Given the description of an element on the screen output the (x, y) to click on. 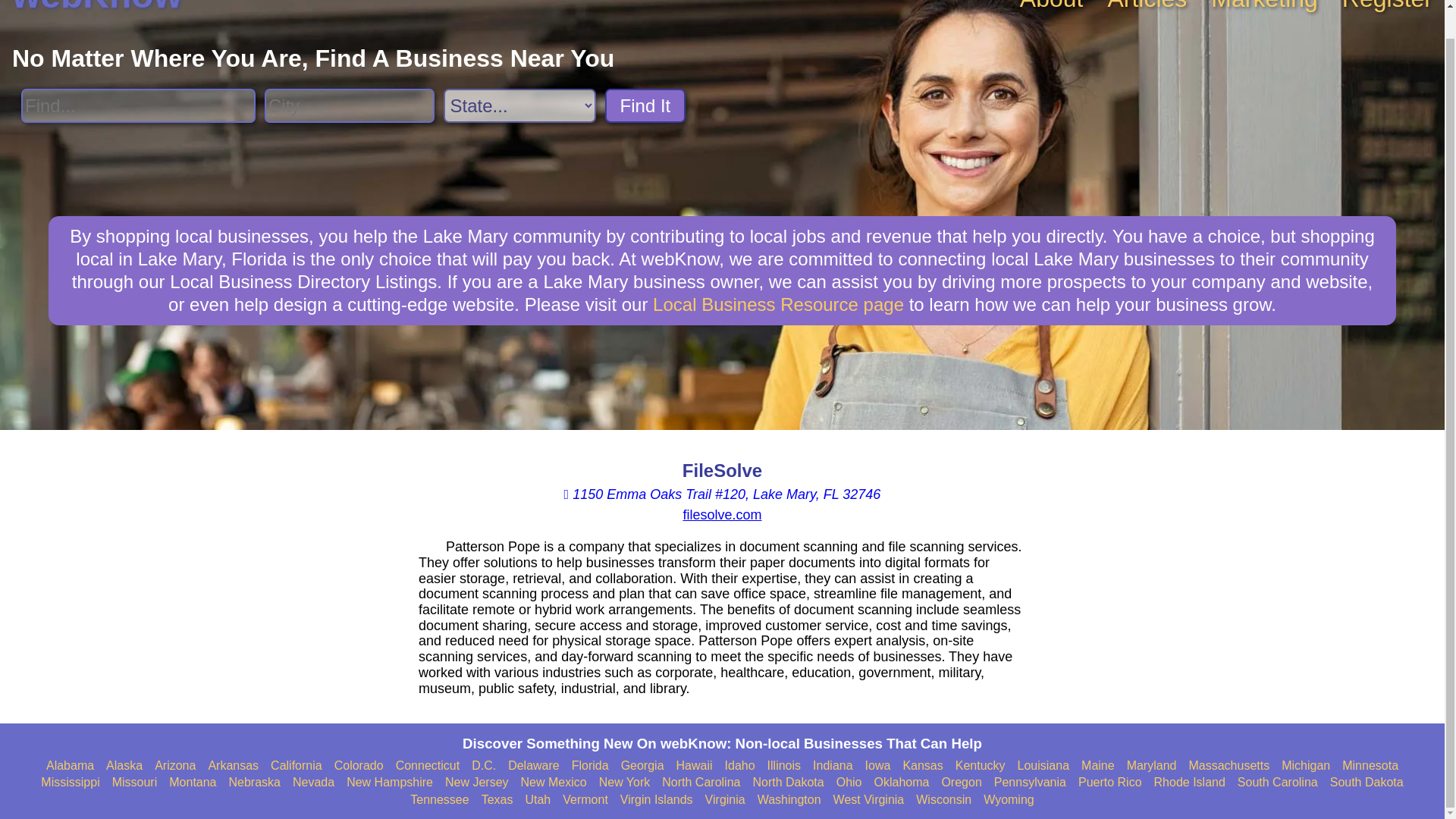
Missouri (134, 782)
Find Businesses in Alaska (124, 766)
Visit filesolve.com (721, 514)
Find Businesses in Delaware (533, 766)
Find Businesses in Arkansas (233, 766)
View on Google Maps (721, 494)
About webKnow (1051, 6)
Louisiana (1043, 766)
Find Businesses in Hawaii (695, 766)
webKnow (96, 7)
